Given the description of an element on the screen output the (x, y) to click on. 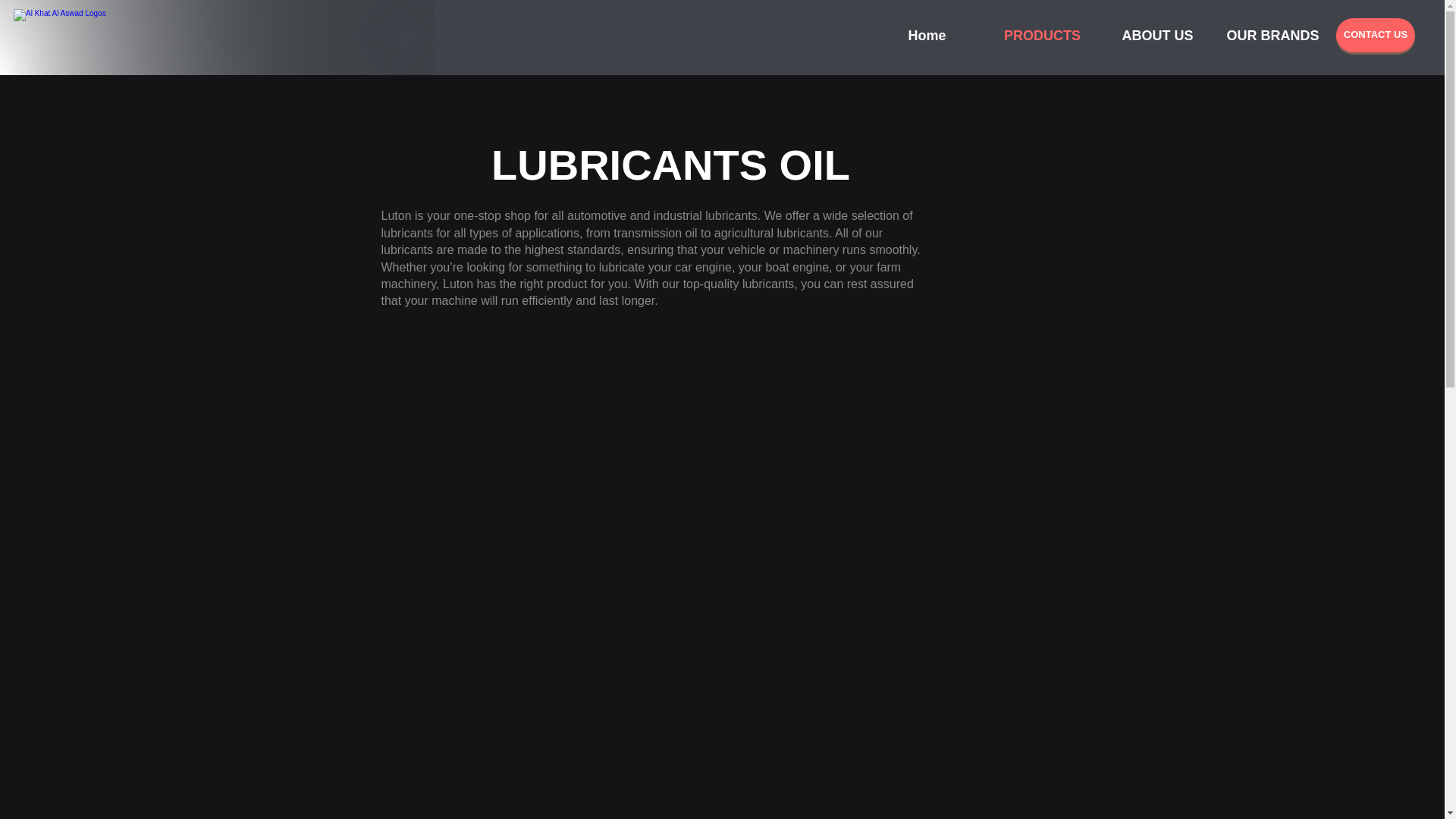
CONTACT US (1375, 35)
OUR BRANDS (1272, 35)
alkhat alaswad logo (66, 38)
PRODUCTS (1041, 35)
ABOUT US (1156, 35)
Home (926, 35)
